Given the description of an element on the screen output the (x, y) to click on. 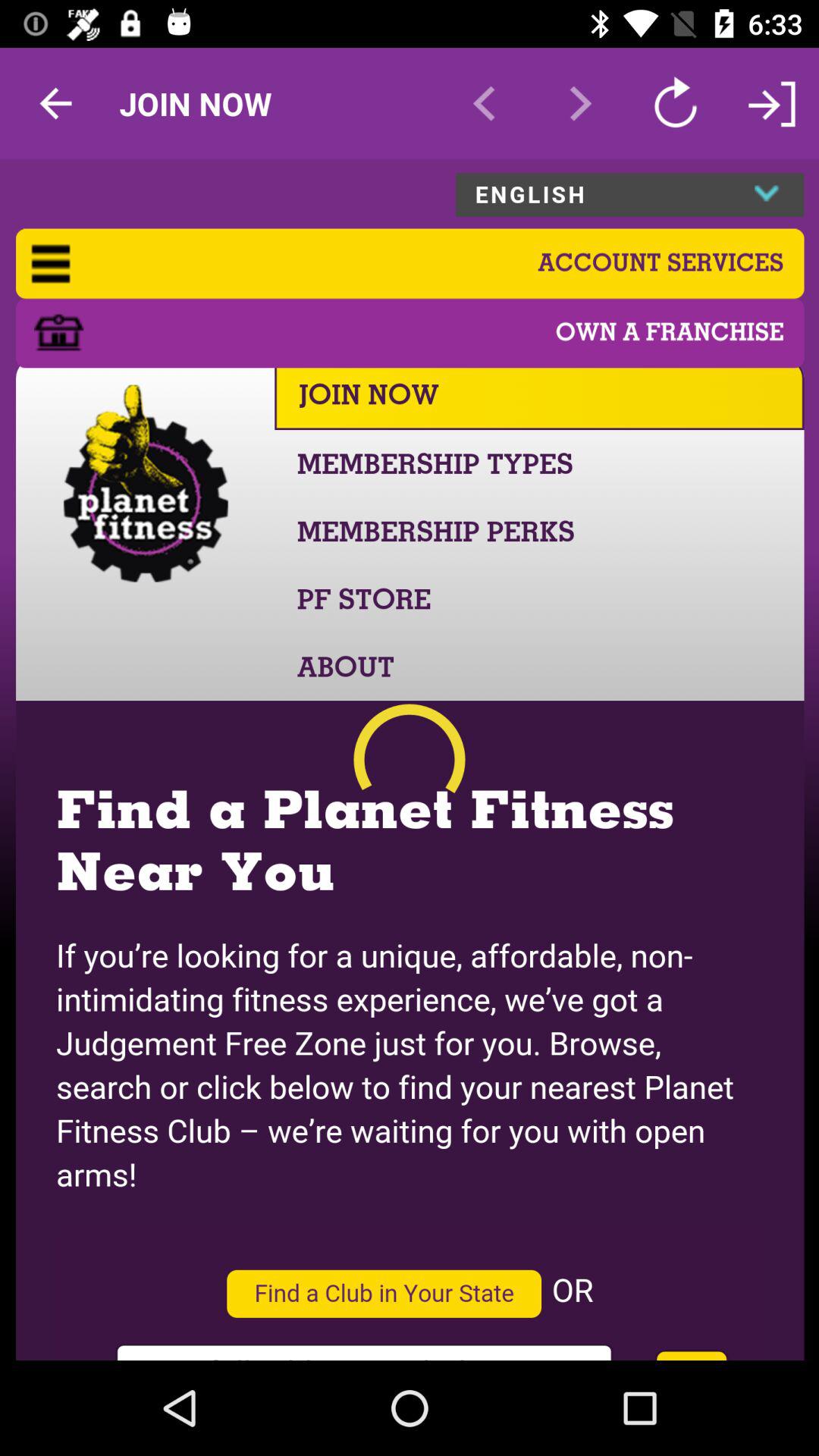
home screen (409, 759)
